Given the description of an element on the screen output the (x, y) to click on. 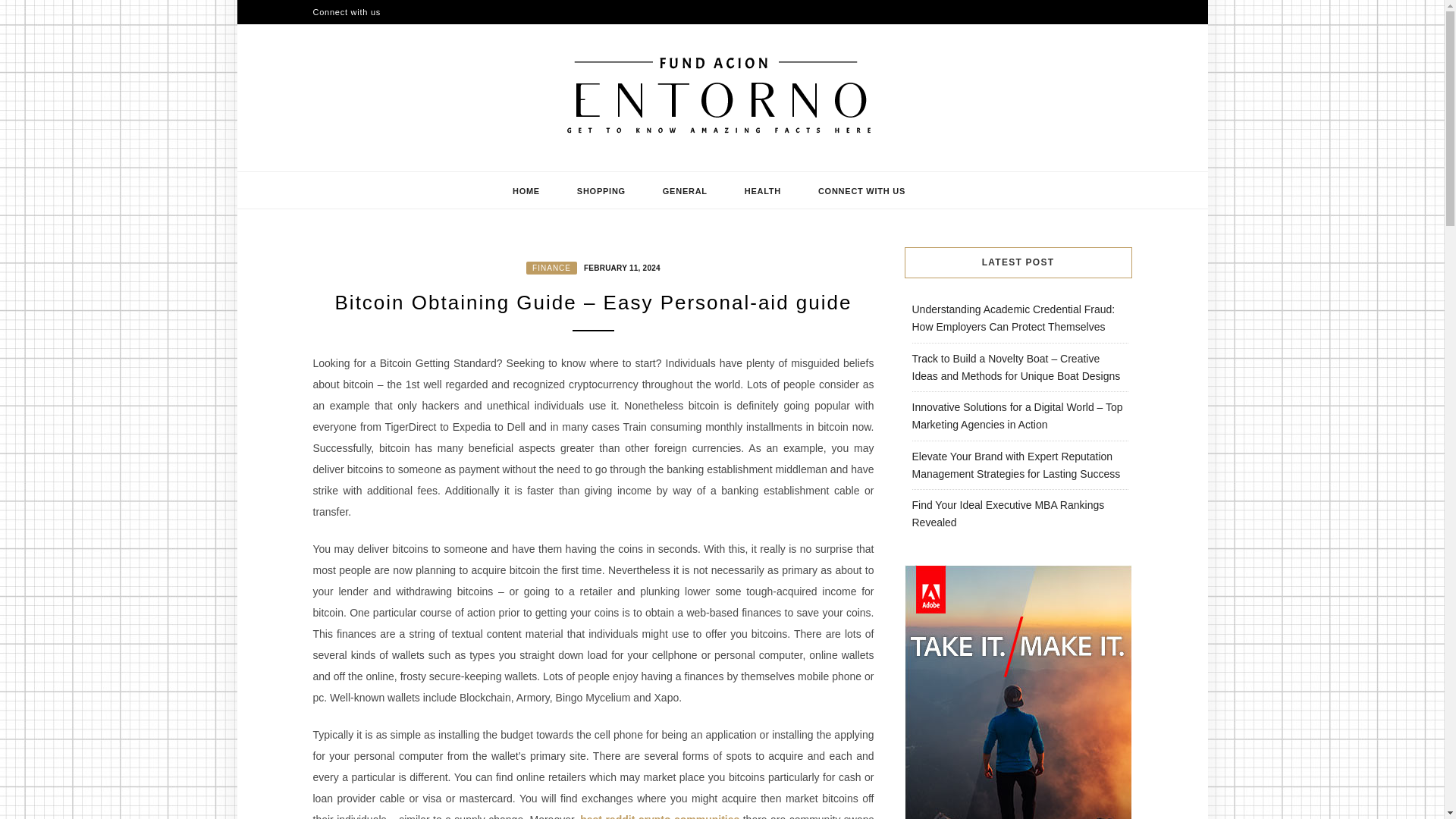
SHOPPING (600, 190)
CONNECT WITH US (860, 190)
GENERAL (685, 190)
FINANCE (550, 267)
FUND ACION ENTORNO (497, 164)
Connect with us (346, 12)
HOME (525, 190)
HEALTH (762, 190)
Find Your Ideal Executive MBA Rankings Revealed (1007, 513)
